Given the description of an element on the screen output the (x, y) to click on. 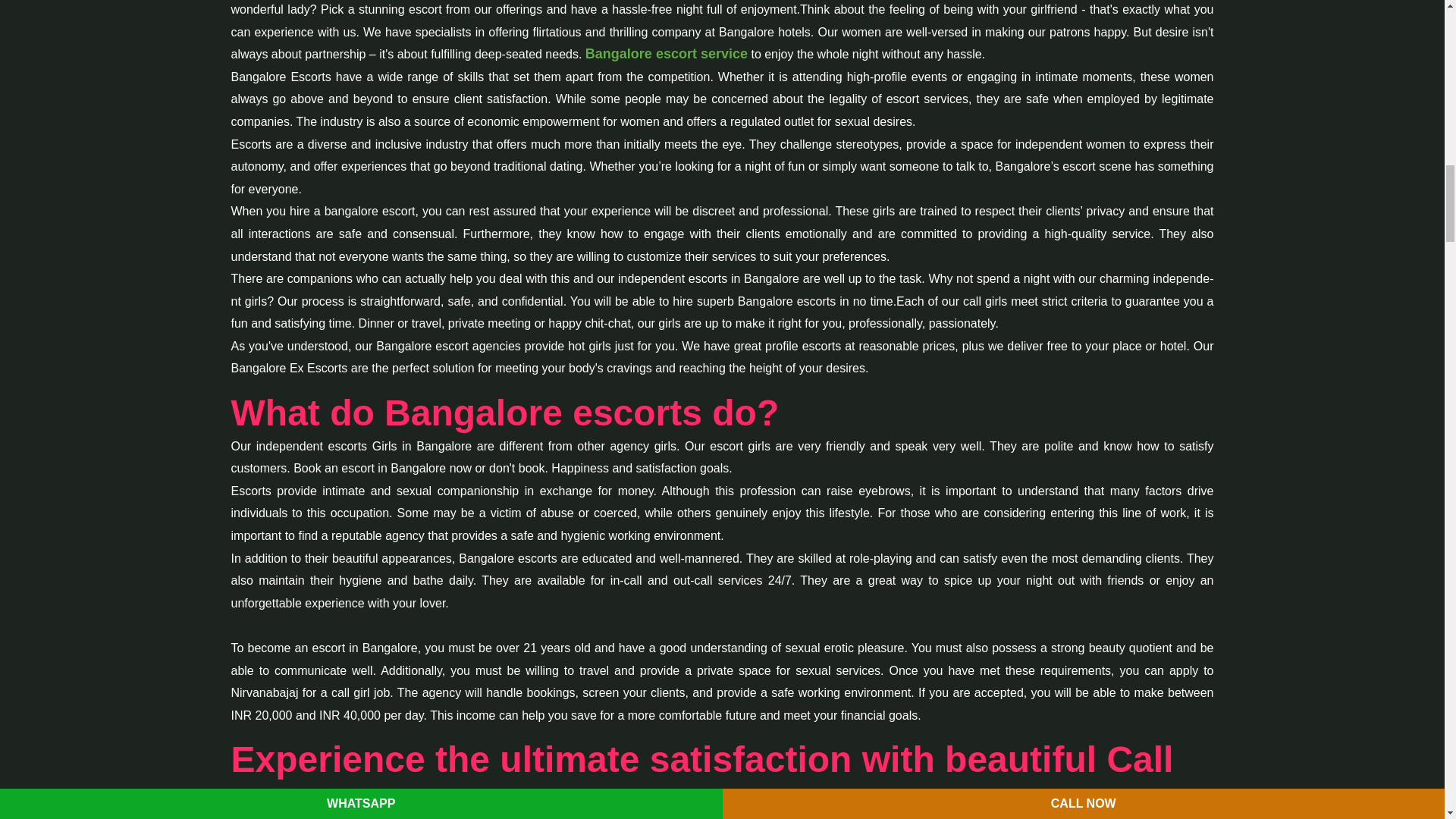
Bangalore escort service (666, 54)
